Given the description of an element on the screen output the (x, y) to click on. 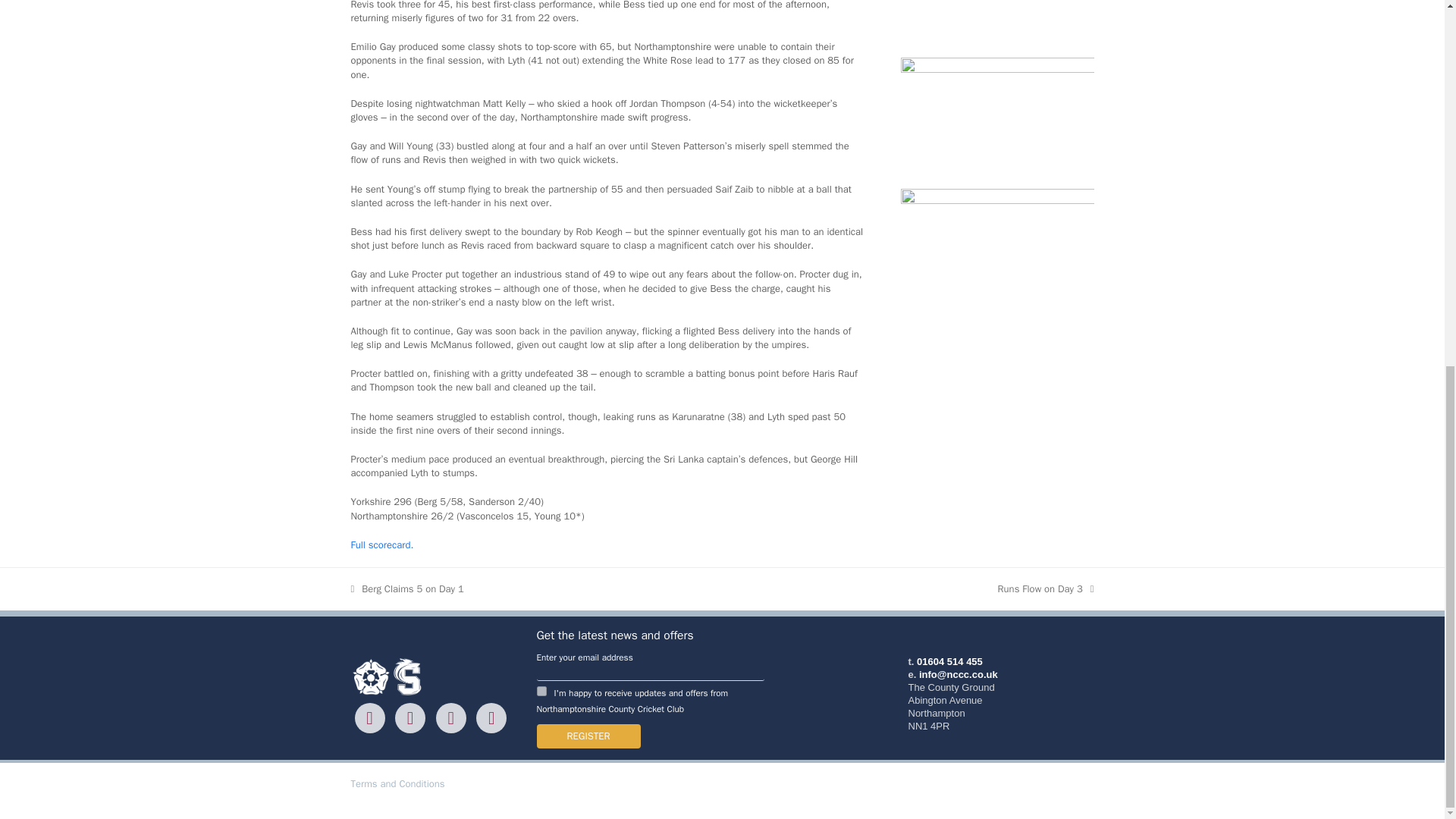
WebLogoHeadLockup (387, 676)
Y (542, 691)
Register (588, 735)
